Given the description of an element on the screen output the (x, y) to click on. 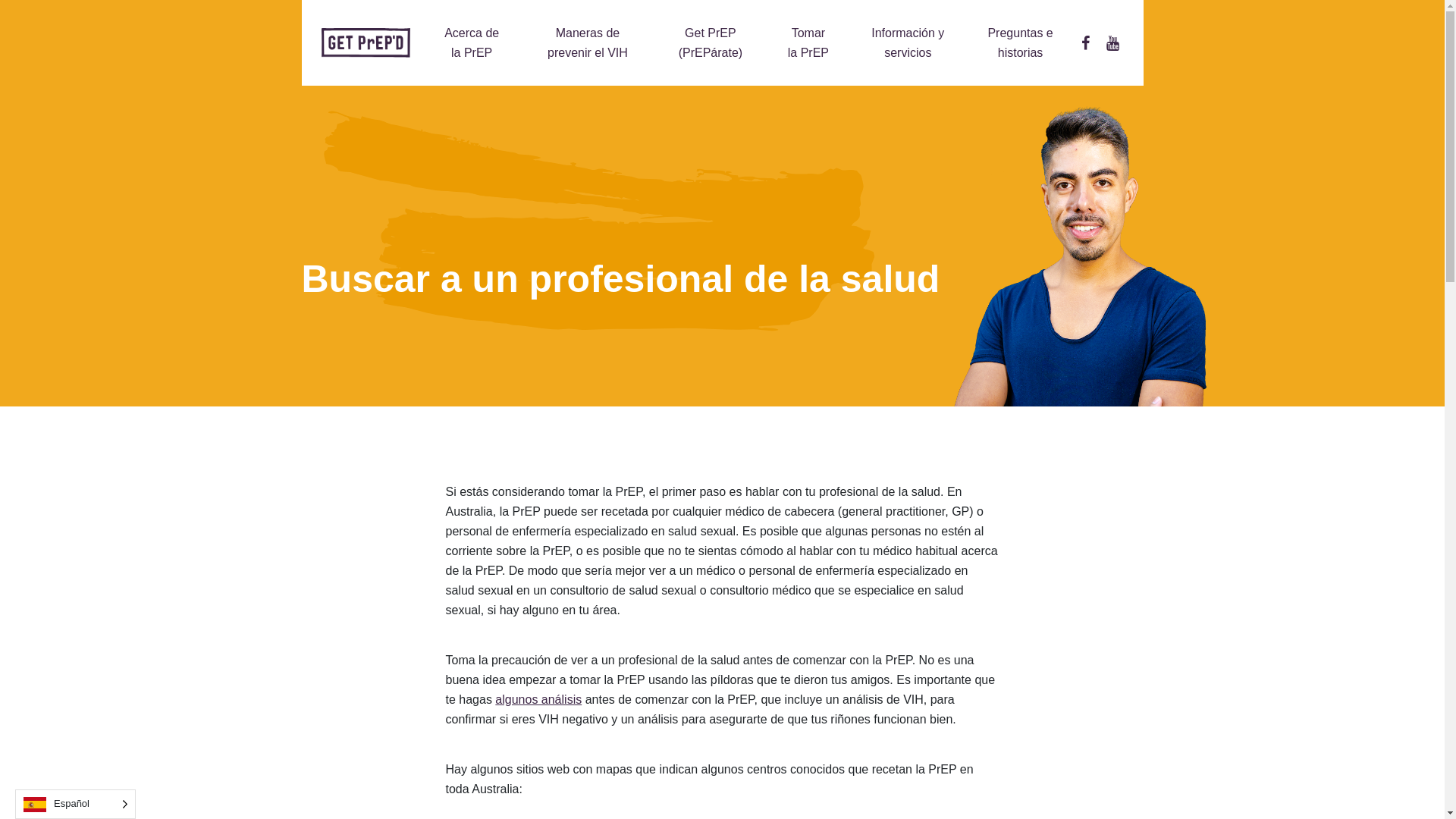
Acerca de la PrEP Element type: text (471, 42)
Preguntas e historias Element type: text (1020, 42)
Tomar la PrEP Element type: text (808, 42)
Maneras de prevenir el VIH Element type: text (587, 42)
